Given the description of an element on the screen output the (x, y) to click on. 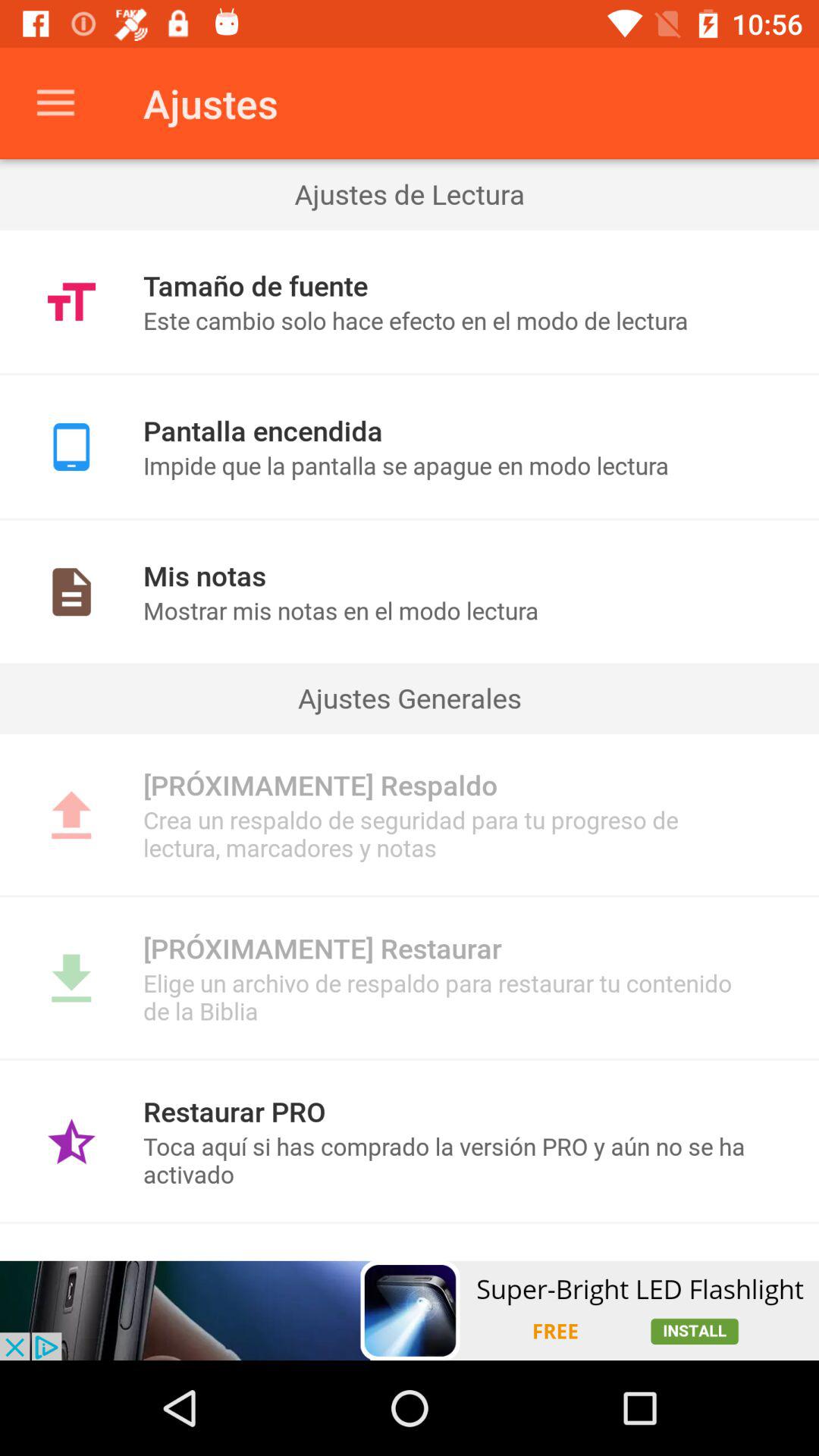
scroll until impide que la item (449, 465)
